Given the description of an element on the screen output the (x, y) to click on. 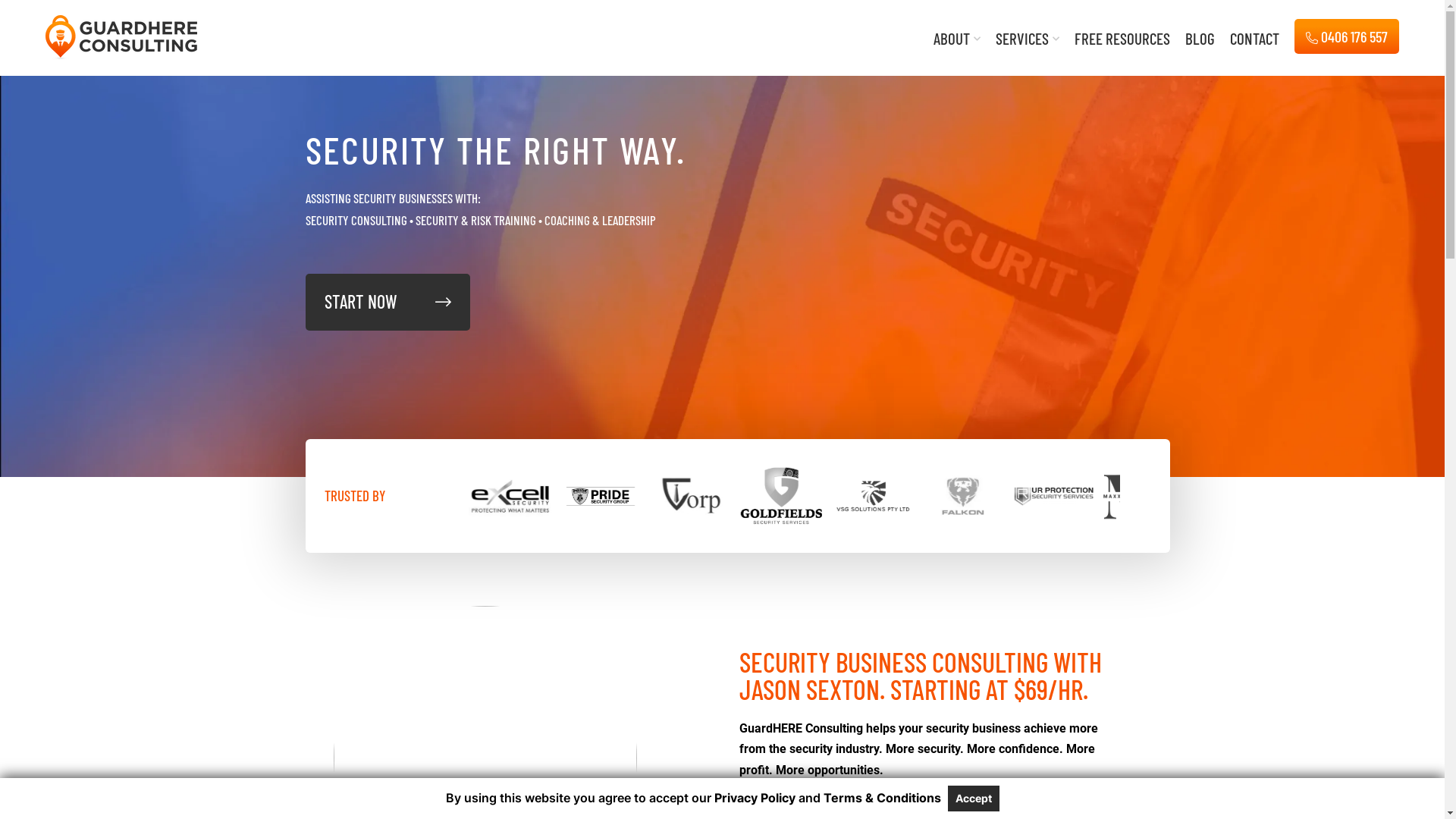
Accept Element type: text (973, 798)
ABOUT Element type: text (956, 50)
FREE RESOURCES Element type: text (1122, 50)
Terms & Conditions Element type: text (882, 797)
SERVICES Element type: text (1027, 50)
CONTACT Element type: text (1254, 50)
START NOW Element type: text (386, 301)
BLOG Element type: text (1199, 50)
Privacy Policy Element type: text (754, 797)
